Given the description of an element on the screen output the (x, y) to click on. 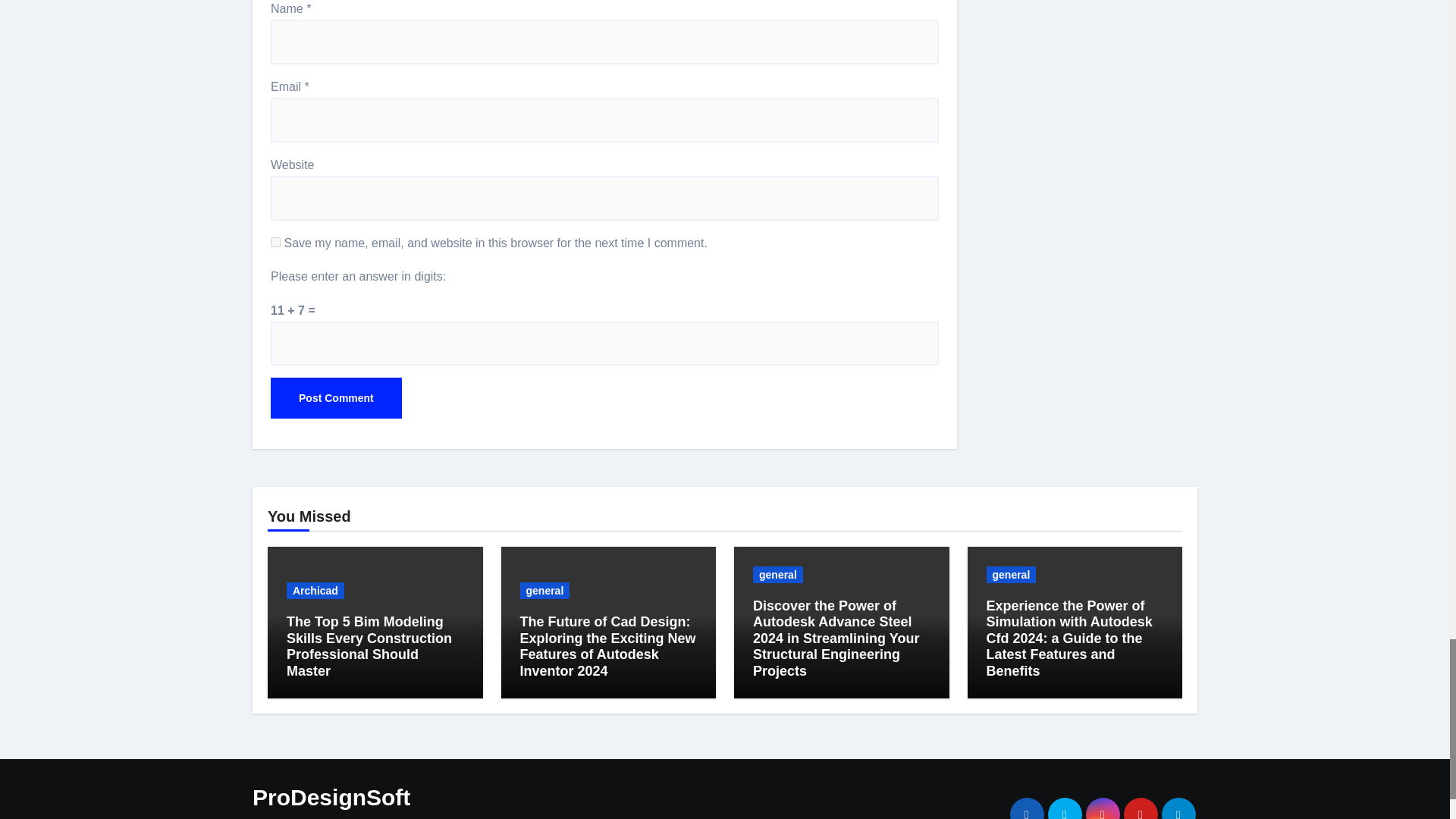
yes (275, 242)
Post Comment (335, 397)
